Given the description of an element on the screen output the (x, y) to click on. 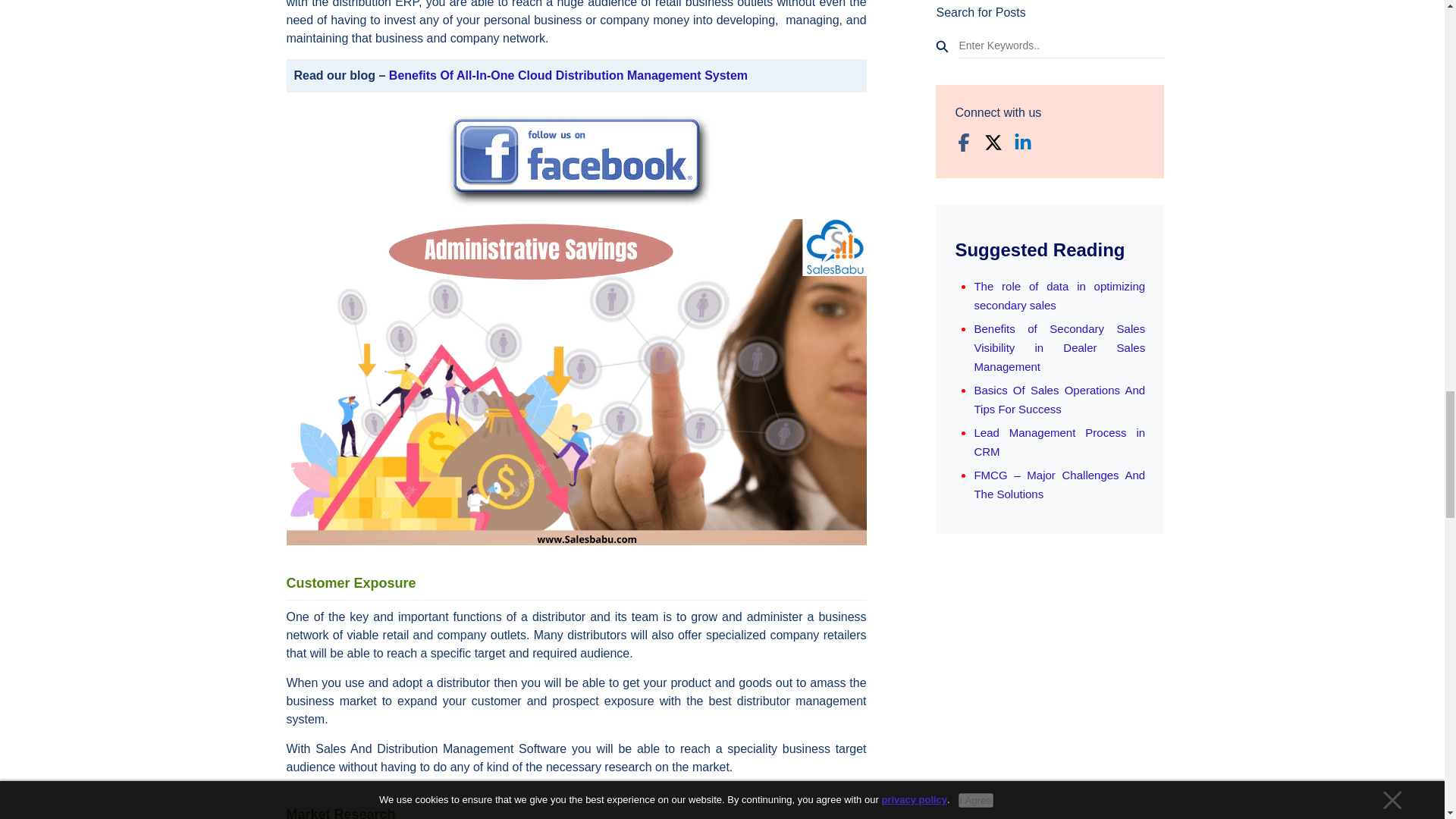
Benefits Of All-In-One Cloud Distribution Management System (568, 74)
